Given the description of an element on the screen output the (x, y) to click on. 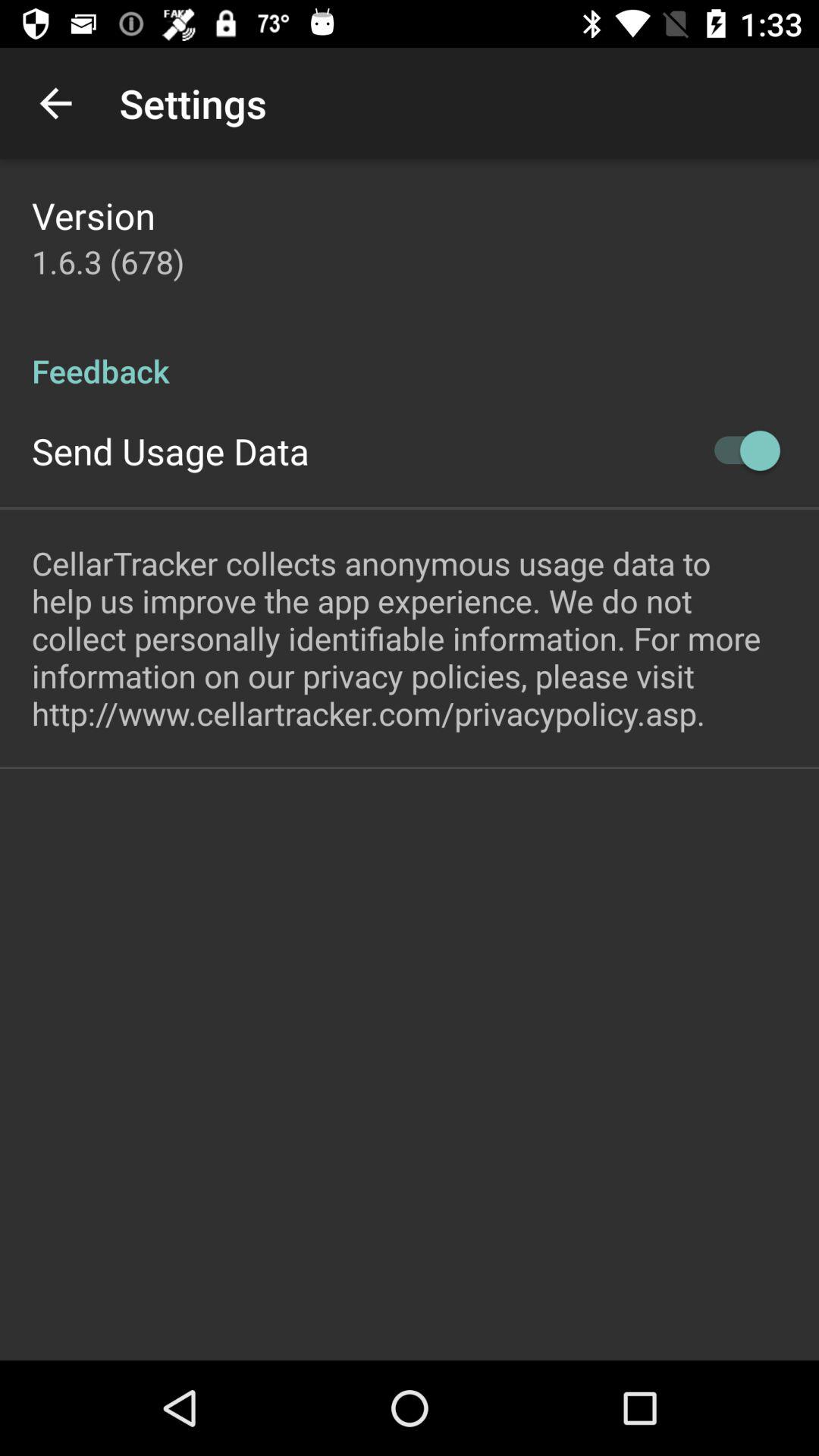
select icon next to settings app (55, 103)
